Given the description of an element on the screen output the (x, y) to click on. 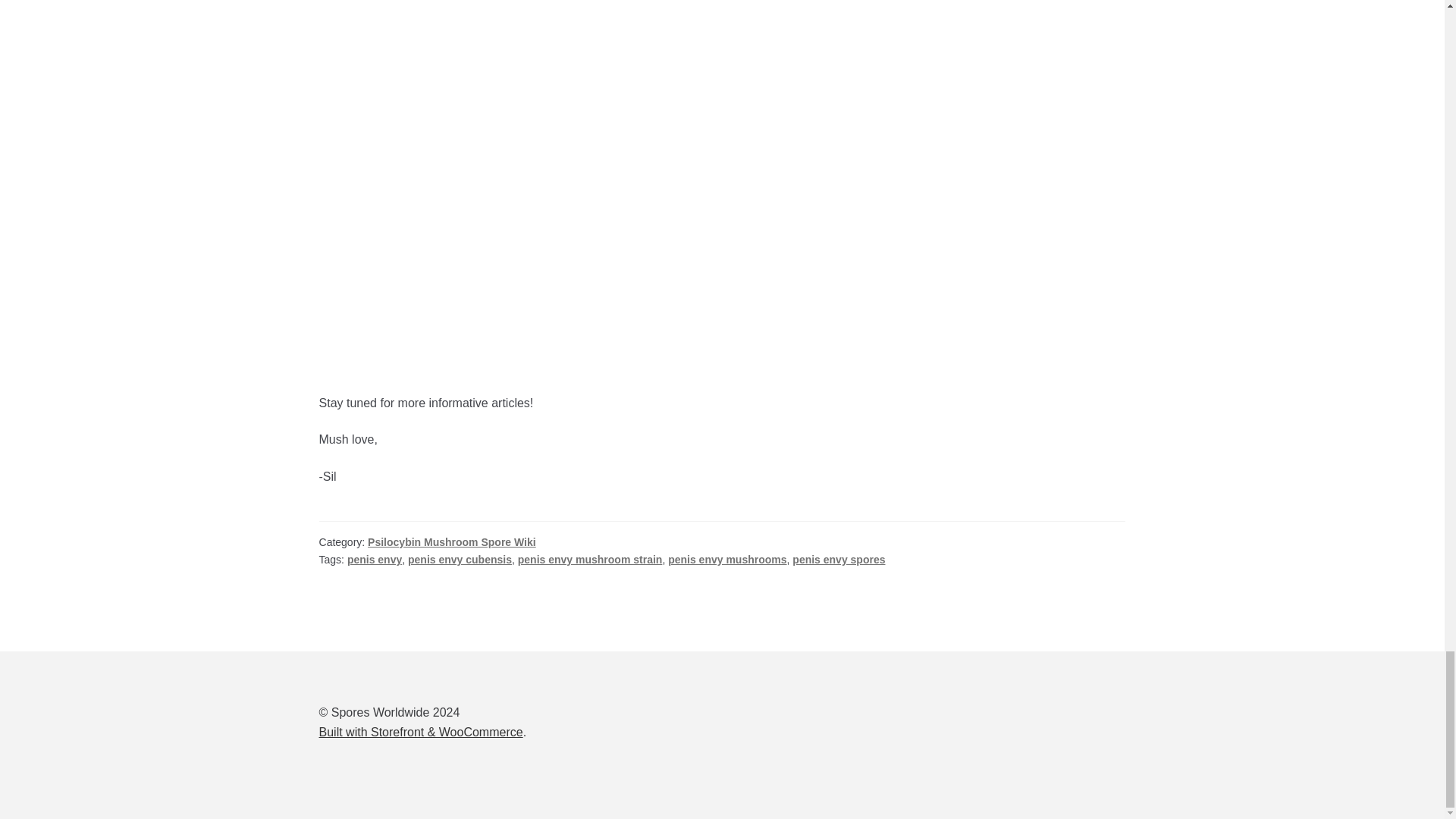
WooCommerce - The Best eCommerce Platform for WordPress (420, 731)
